Given the description of an element on the screen output the (x, y) to click on. 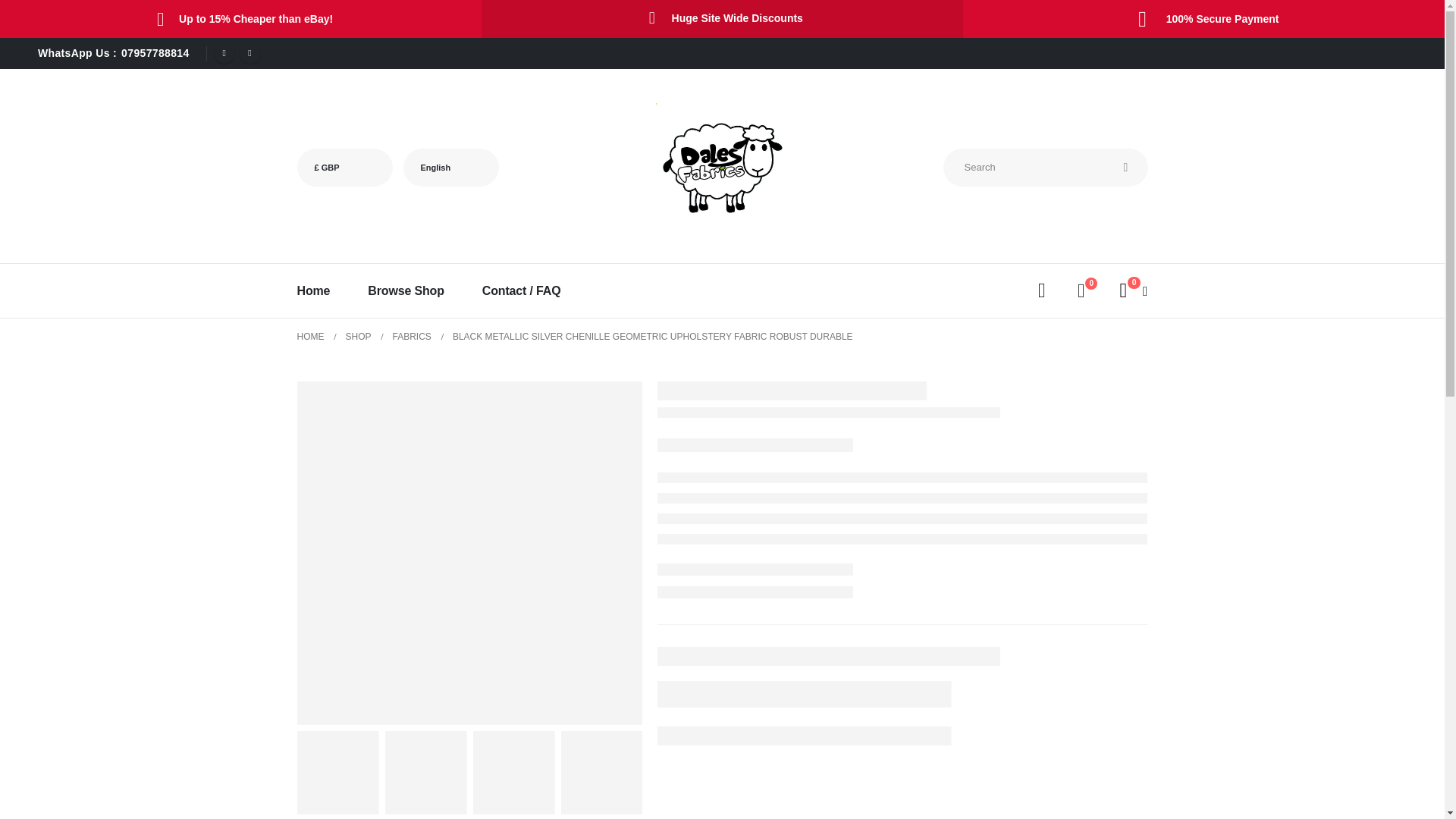
0 (1080, 291)
07957788814 (154, 52)
English (451, 167)
Browse Shop (406, 290)
My Account (1041, 290)
Facebook (224, 52)
HOME (310, 336)
Instagram (250, 52)
FABRICS (411, 336)
Go to Home Page (310, 336)
Dales Fabrics - Wholesale Clearance Fabrics (720, 167)
Search (1126, 167)
Wishlist (1080, 291)
SHOP (358, 336)
